Given the description of an element on the screen output the (x, y) to click on. 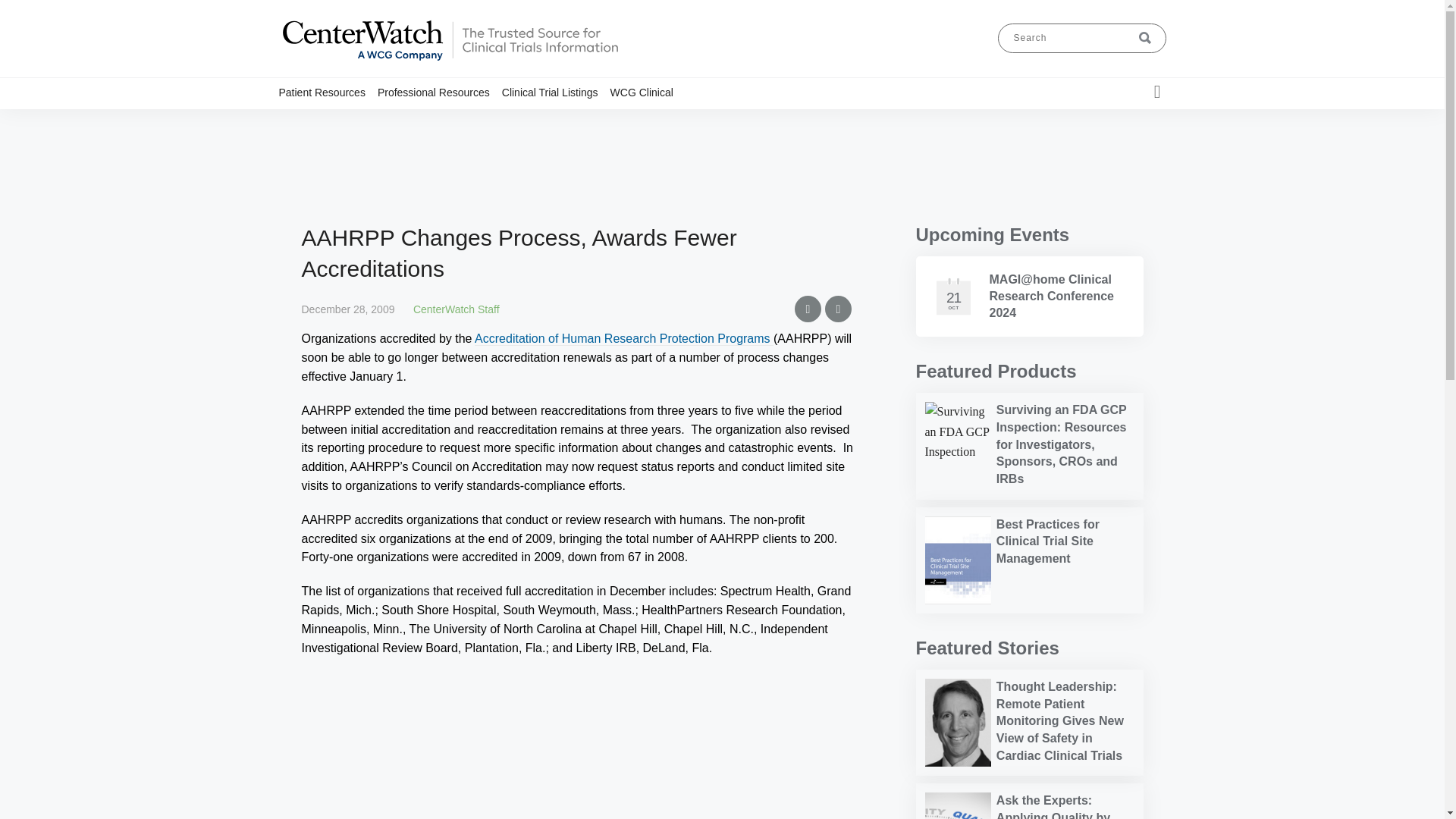
Clinical Trial Listings (556, 91)
Market Research (459, 121)
Become a Clinical Trial Volunteer (365, 127)
Submit (1144, 37)
Benchmark Reports (464, 121)
Newsletters (484, 121)
CenterWatch Logo (449, 60)
Upcoming Events (992, 234)
Events (483, 121)
WCG Clinical (647, 91)
FDA Approved Drugs (468, 121)
Professional Resources (439, 91)
eLearning (480, 121)
Accreditation of Human Research Protection Programs (623, 338)
White Papers (487, 121)
